Given the description of an element on the screen output the (x, y) to click on. 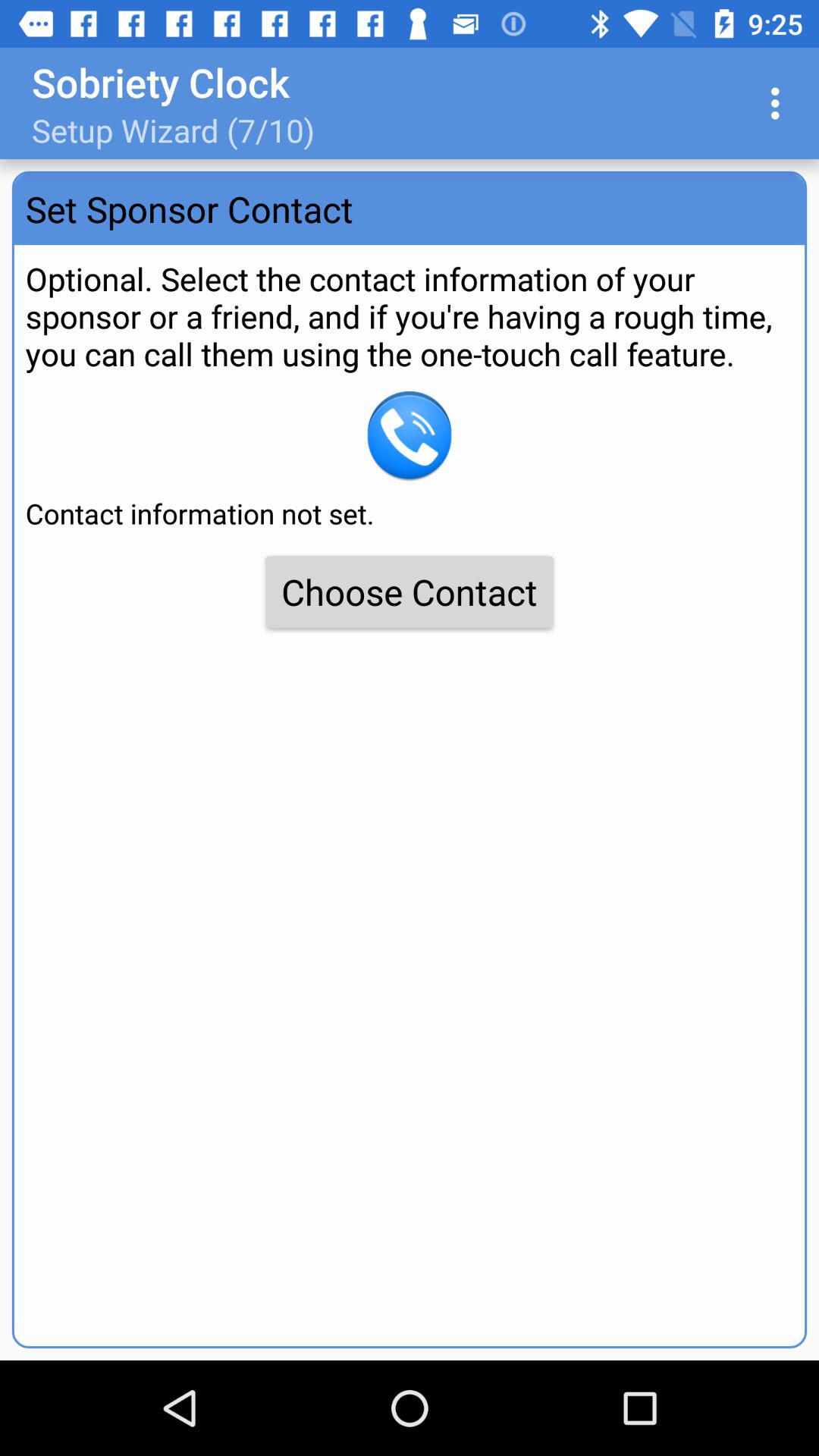
press item at the top right corner (779, 103)
